Given the description of an element on the screen output the (x, y) to click on. 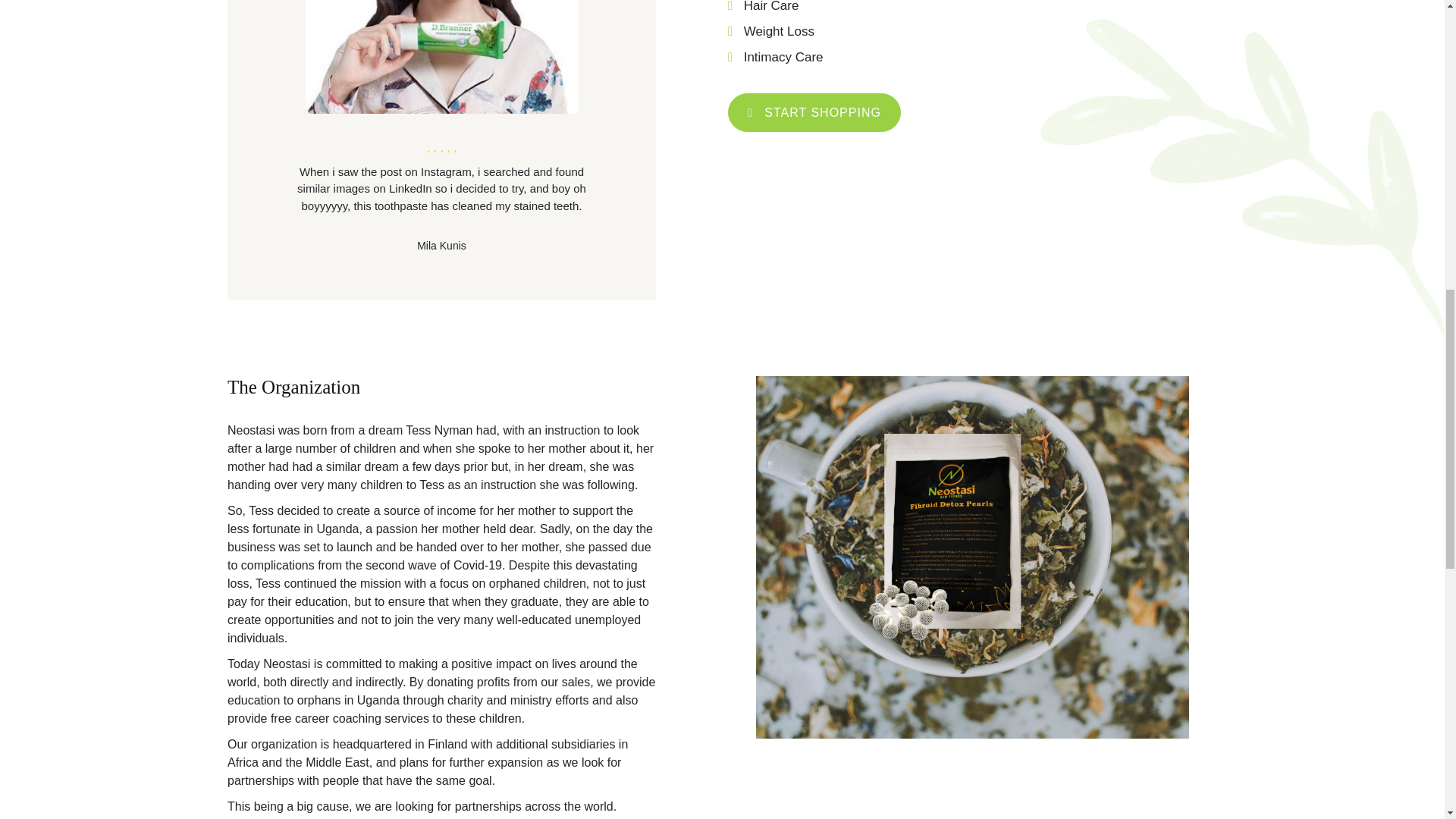
START SHOPPING (814, 112)
